Given the description of an element on the screen output the (x, y) to click on. 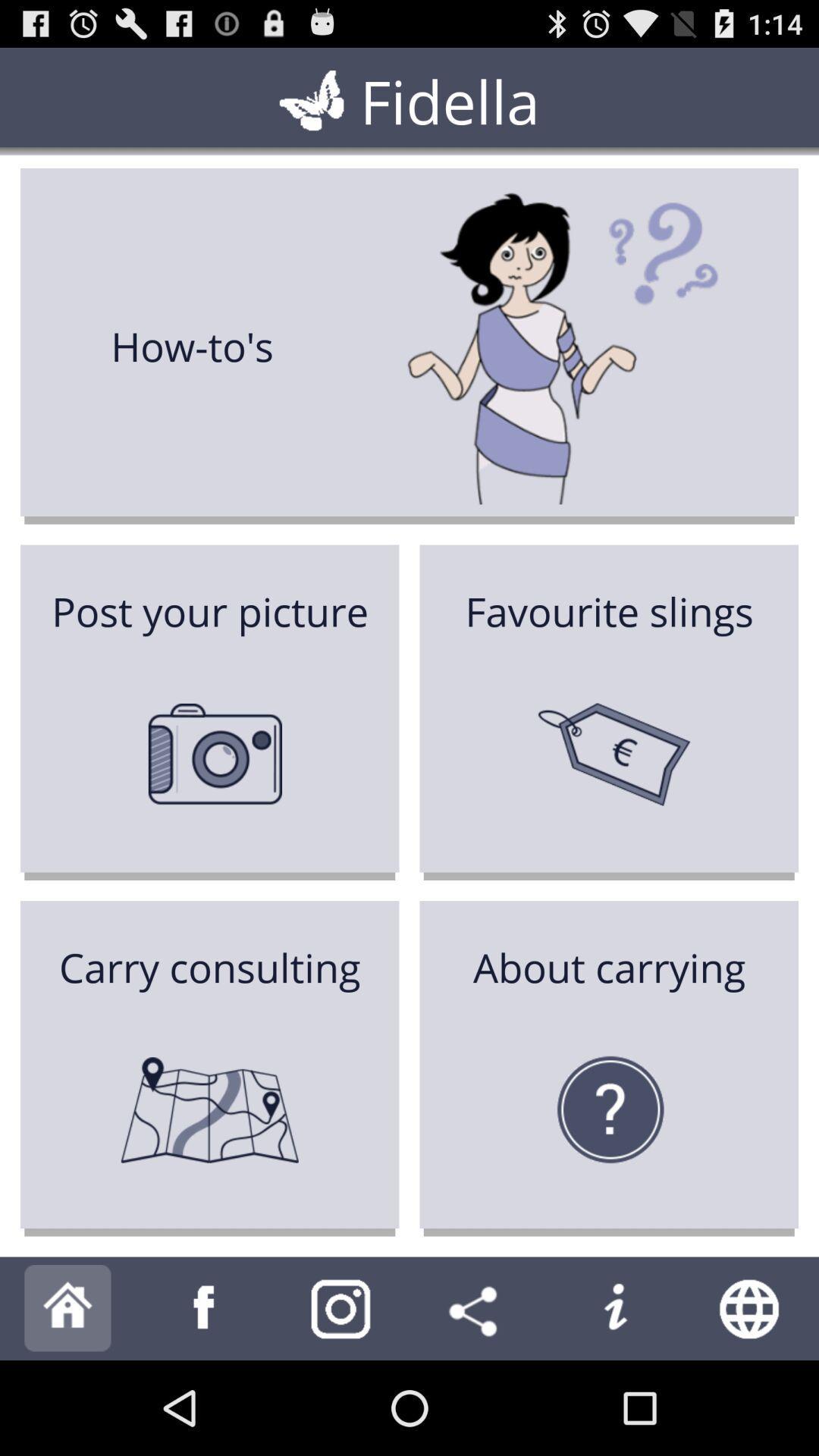
open instagram (341, 1308)
